Given the description of an element on the screen output the (x, y) to click on. 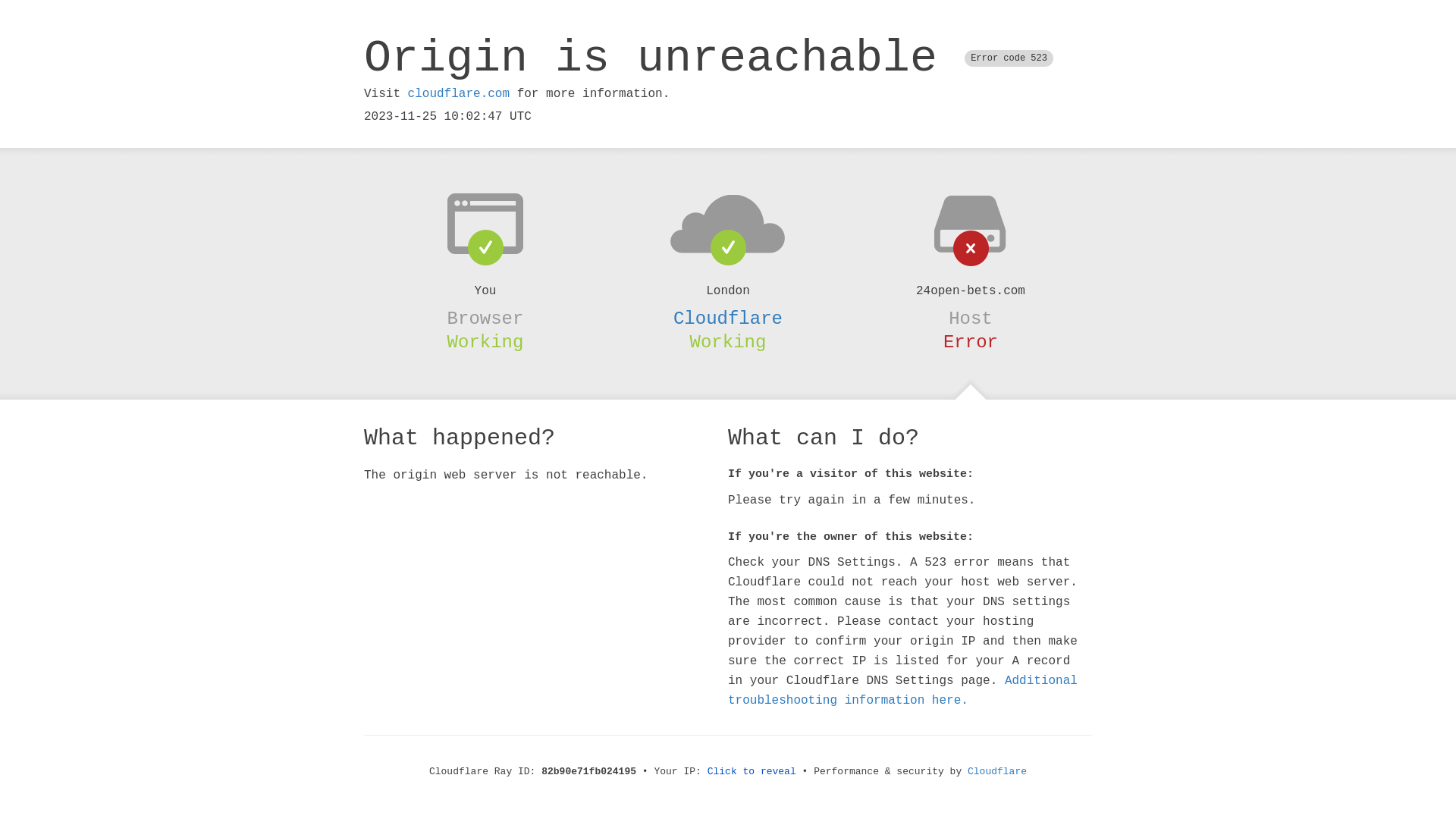
cloudflare.com Element type: text (458, 93)
Cloudflare Element type: text (727, 318)
Click to reveal Element type: text (751, 771)
Cloudflare Element type: text (996, 771)
Additional troubleshooting information here. Element type: text (902, 690)
